Given the description of an element on the screen output the (x, y) to click on. 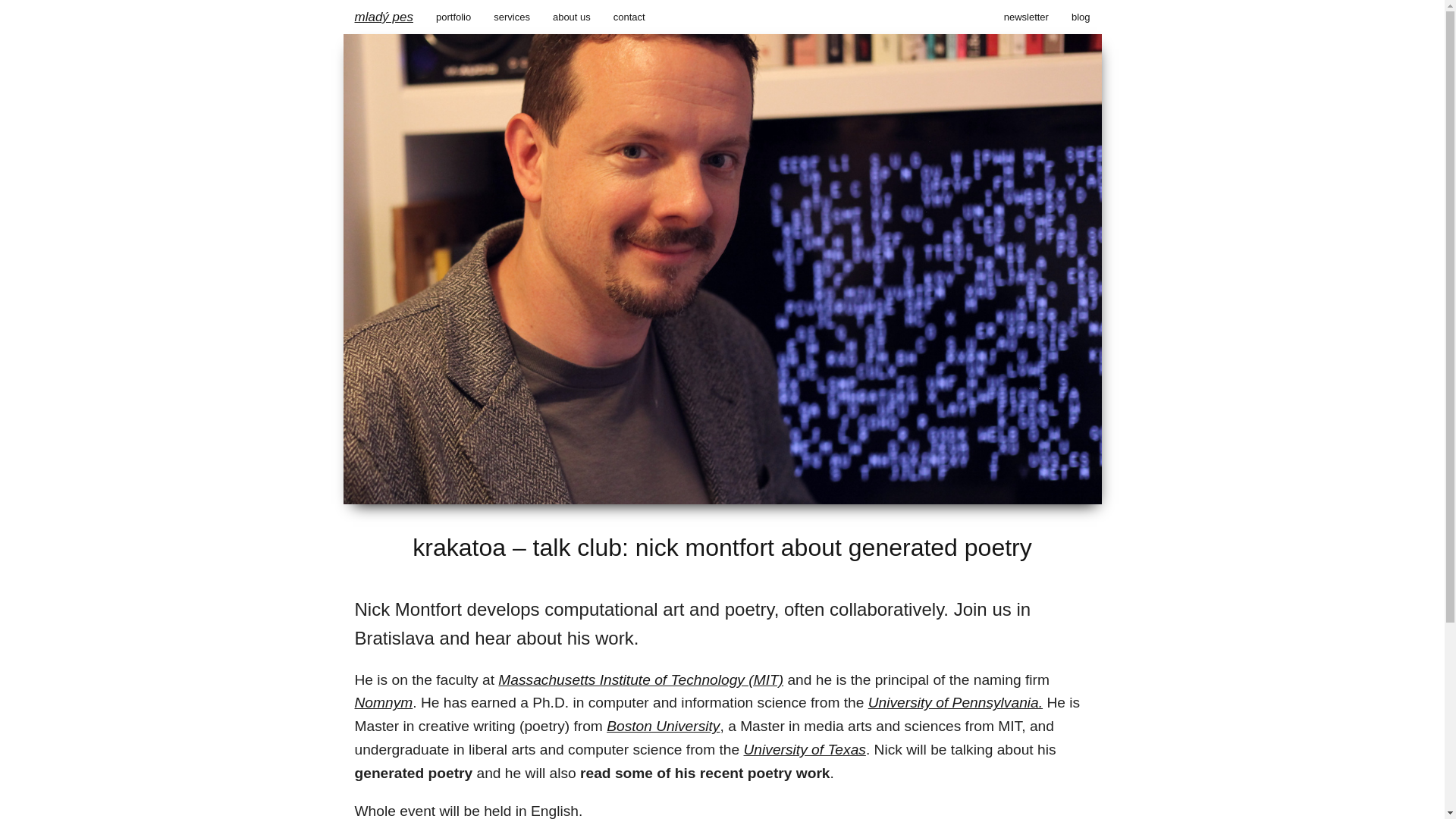
services (511, 17)
about us (571, 17)
University of Texas (805, 749)
newsletter (1025, 17)
University of Pennsylvania. (954, 702)
Boston University (663, 725)
contact (629, 17)
blog (1080, 17)
Nomnym (384, 702)
portfolio (453, 17)
